Given the description of an element on the screen output the (x, y) to click on. 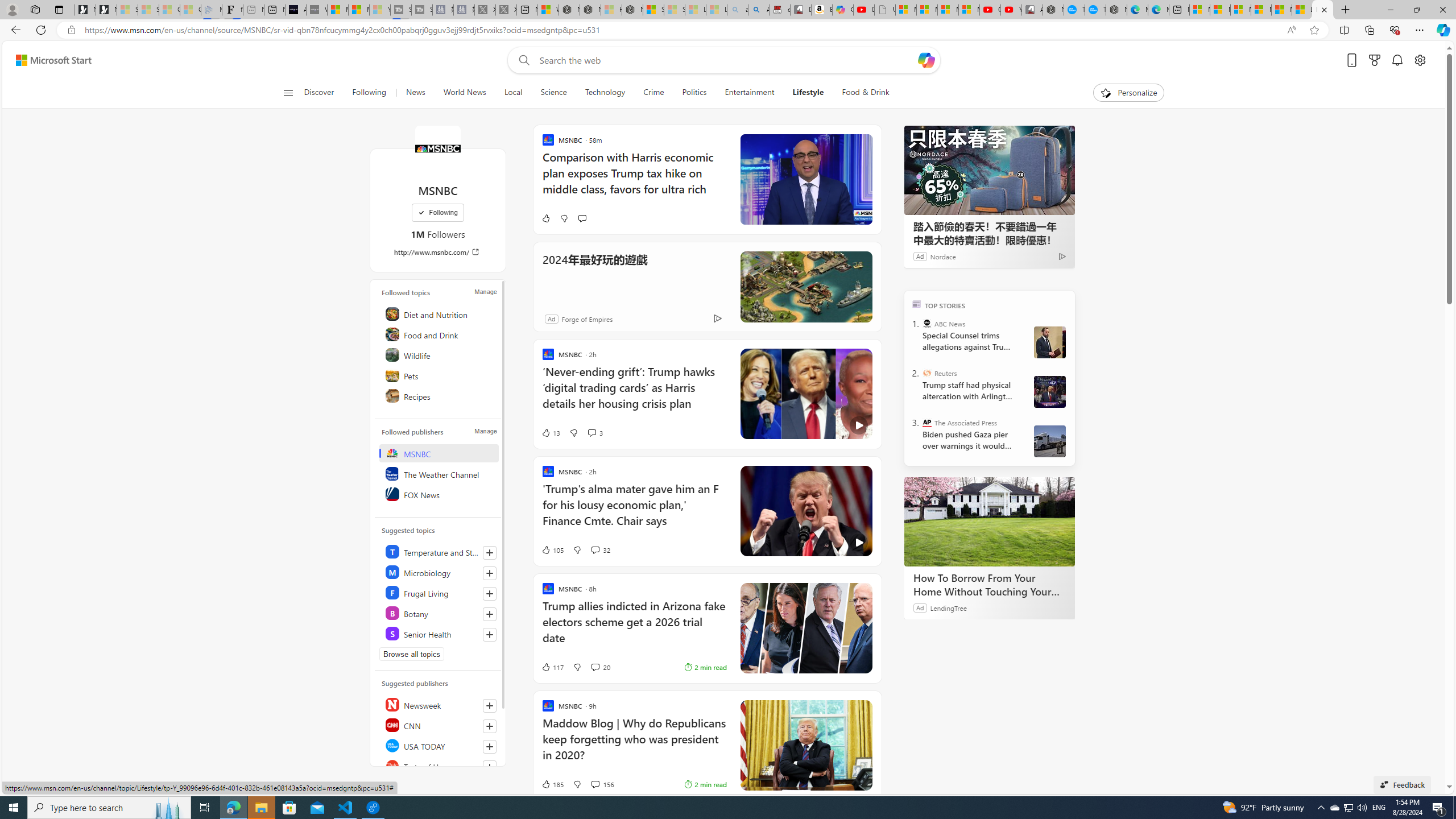
Class: button-glyph (287, 92)
What's the best AI voice generator? - voice.ai - Sleeping (316, 9)
View comments 32 Comment (599, 549)
CNN (439, 724)
Follow this source (489, 766)
MSNBC - MSN (1322, 9)
185 Like (551, 784)
Personalize (1128, 92)
